Given the description of an element on the screen output the (x, y) to click on. 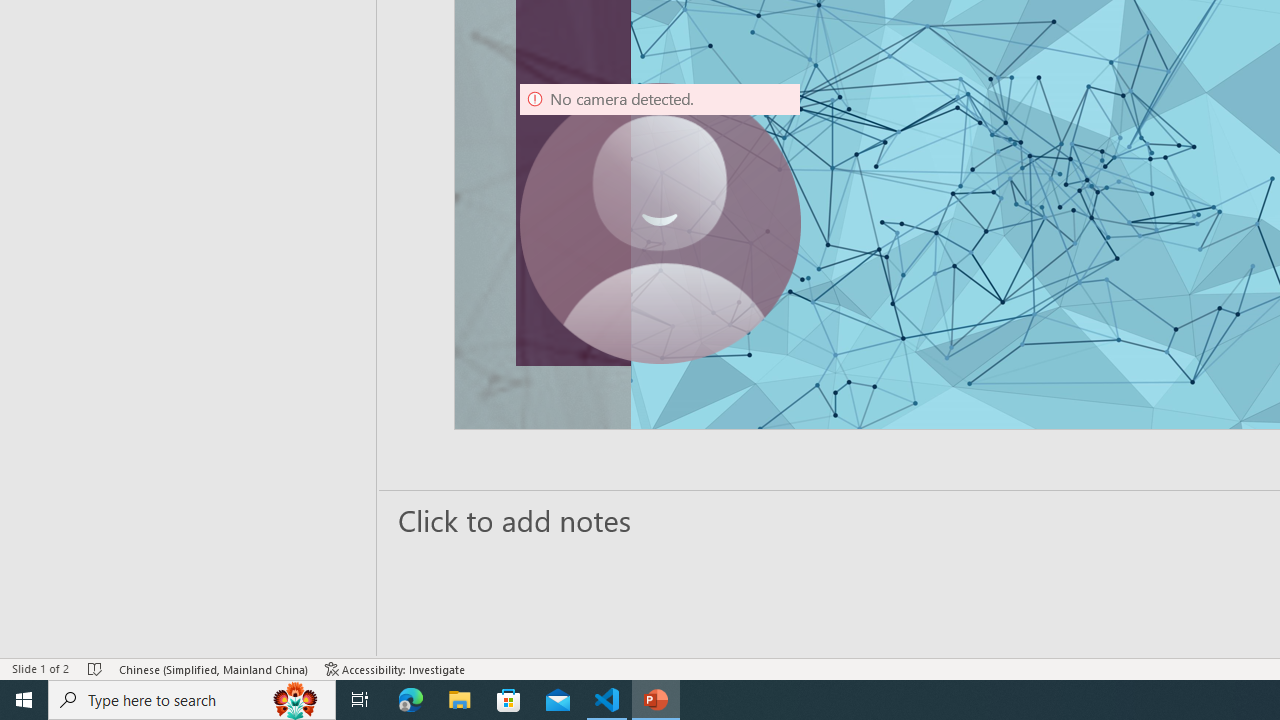
Spell Check No Errors (95, 668)
Camera 9, No camera detected. (660, 223)
Accessibility Checker Accessibility: Investigate (395, 668)
